Given the description of an element on the screen output the (x, y) to click on. 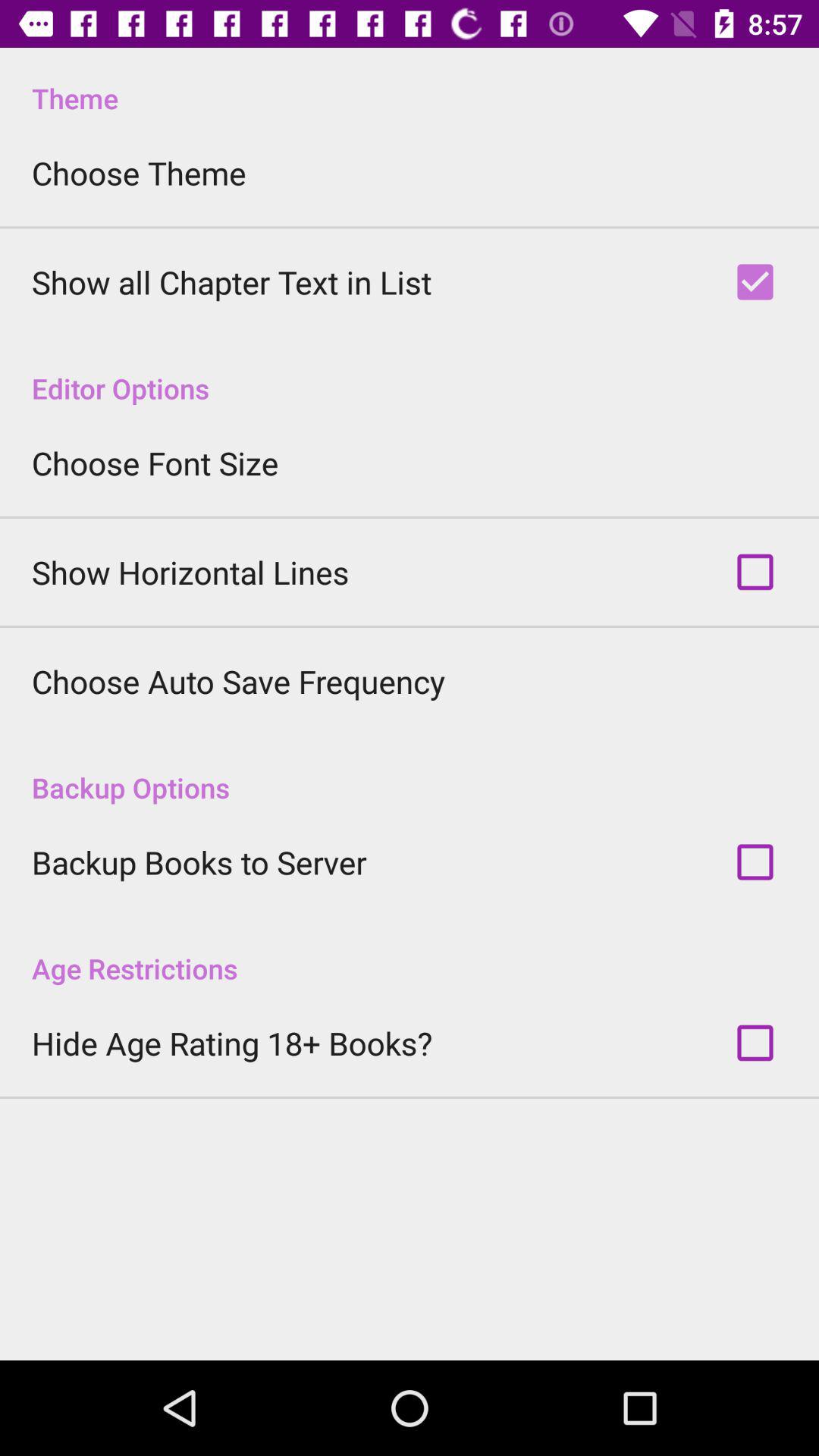
tap the editor options (409, 372)
